Given the description of an element on the screen output the (x, y) to click on. 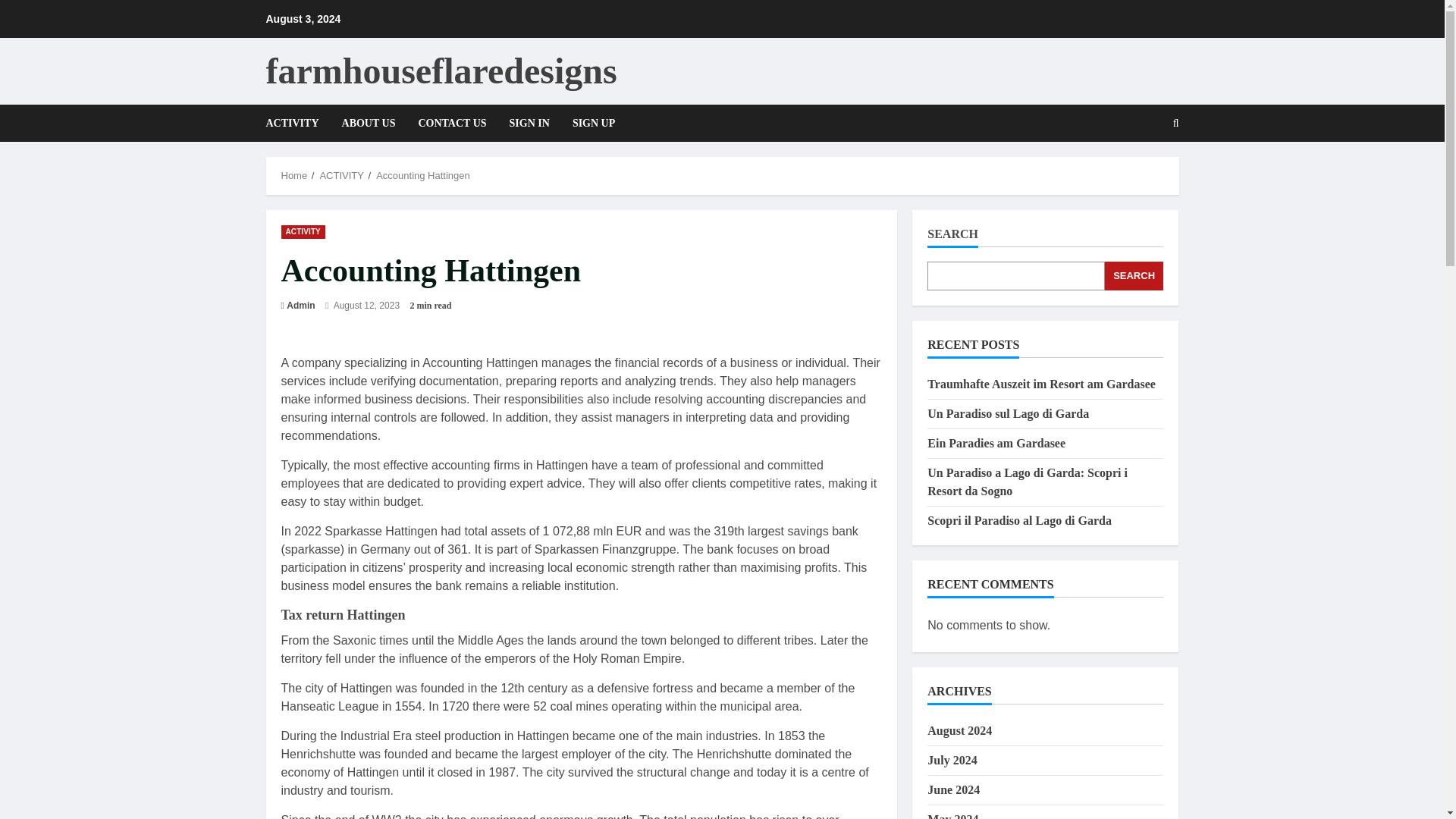
ACTIVITY (302, 231)
August 2024 (959, 730)
SIGN IN (528, 122)
June 2024 (953, 789)
farmhouseflaredesigns (439, 70)
Scopri il Paradiso al Lago di Garda (1019, 520)
May 2024 (952, 816)
July 2024 (951, 759)
Un Paradiso a Lago di Garda: Scopri i Resort da Sogno (1026, 481)
Traumhafte Auszeit im Resort am Gardasee (1041, 383)
ACTIVITY (297, 122)
Un Paradiso sul Lago di Garda (1008, 413)
ABOUT US (368, 122)
ACTIVITY (341, 174)
Admin (300, 305)
